Given the description of an element on the screen output the (x, y) to click on. 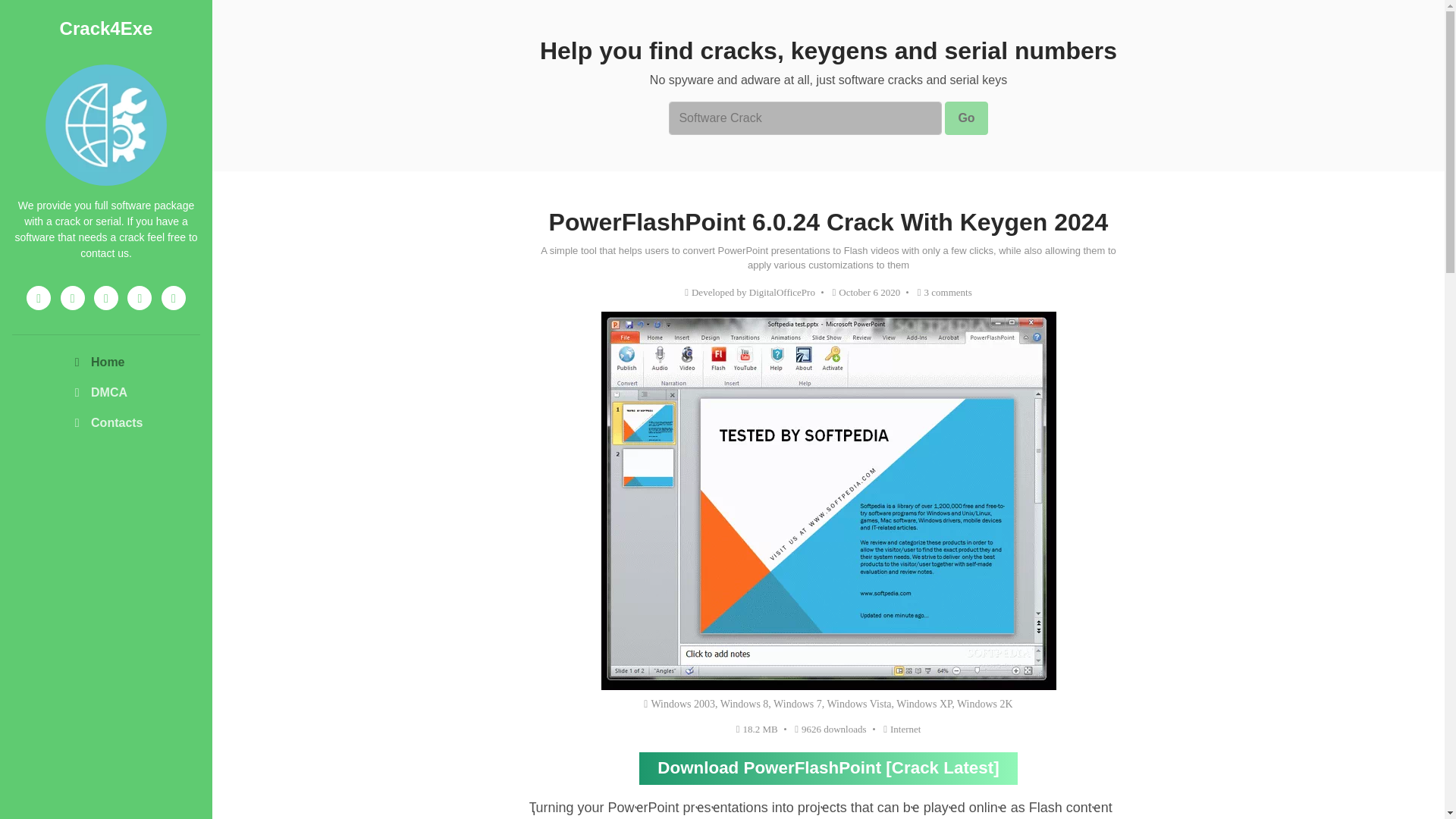
Category (901, 728)
Crack4Exe (105, 28)
Contacts (105, 422)
Go (965, 118)
DMCA (105, 392)
